Given the description of an element on the screen output the (x, y) to click on. 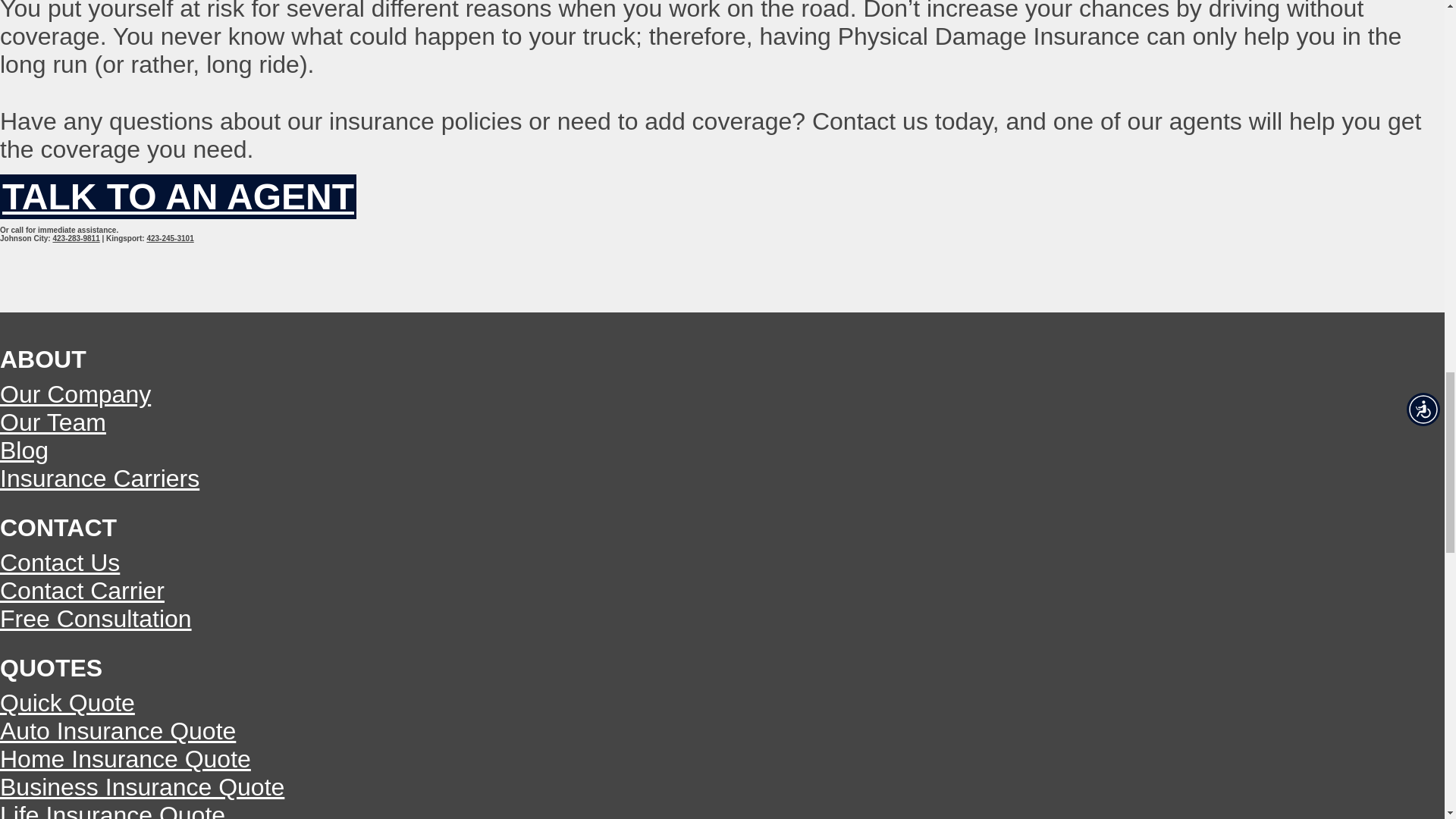
TALK TO AN AGENT (178, 196)
